Given the description of an element on the screen output the (x, y) to click on. 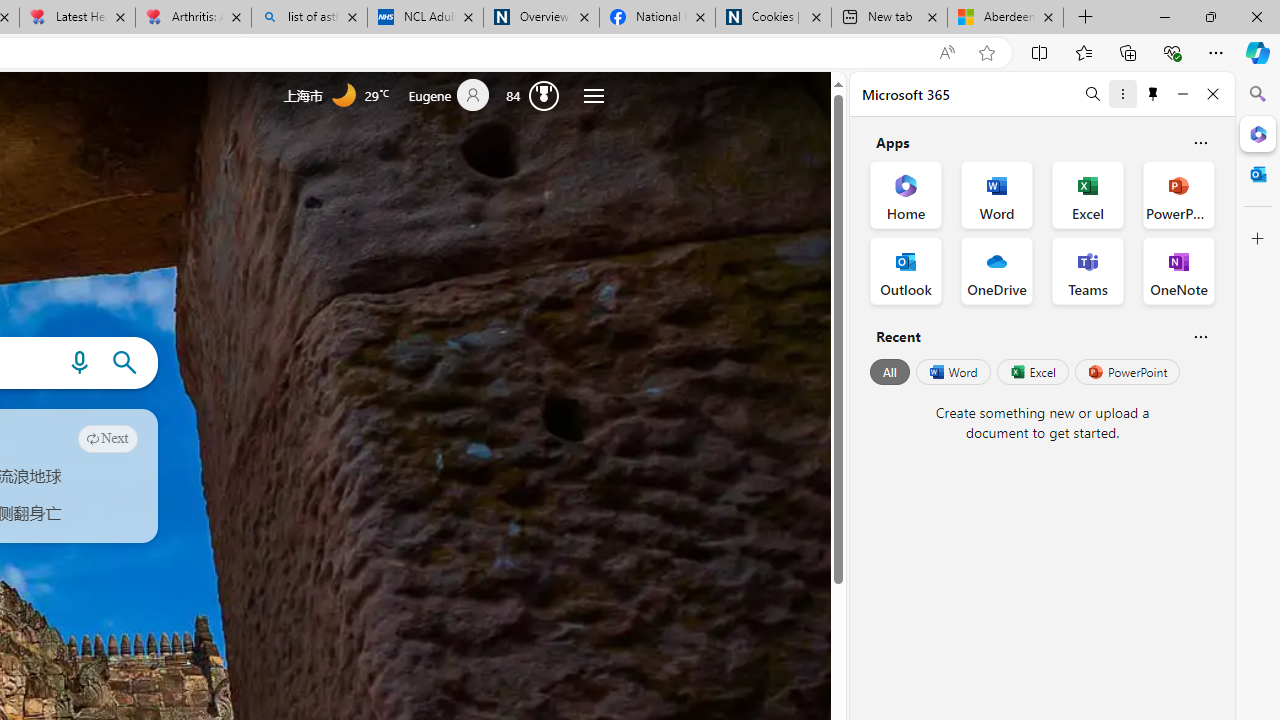
Excel Office App (1087, 194)
OneDrive Office App (996, 270)
Next (108, 438)
